Given the description of an element on the screen output the (x, y) to click on. 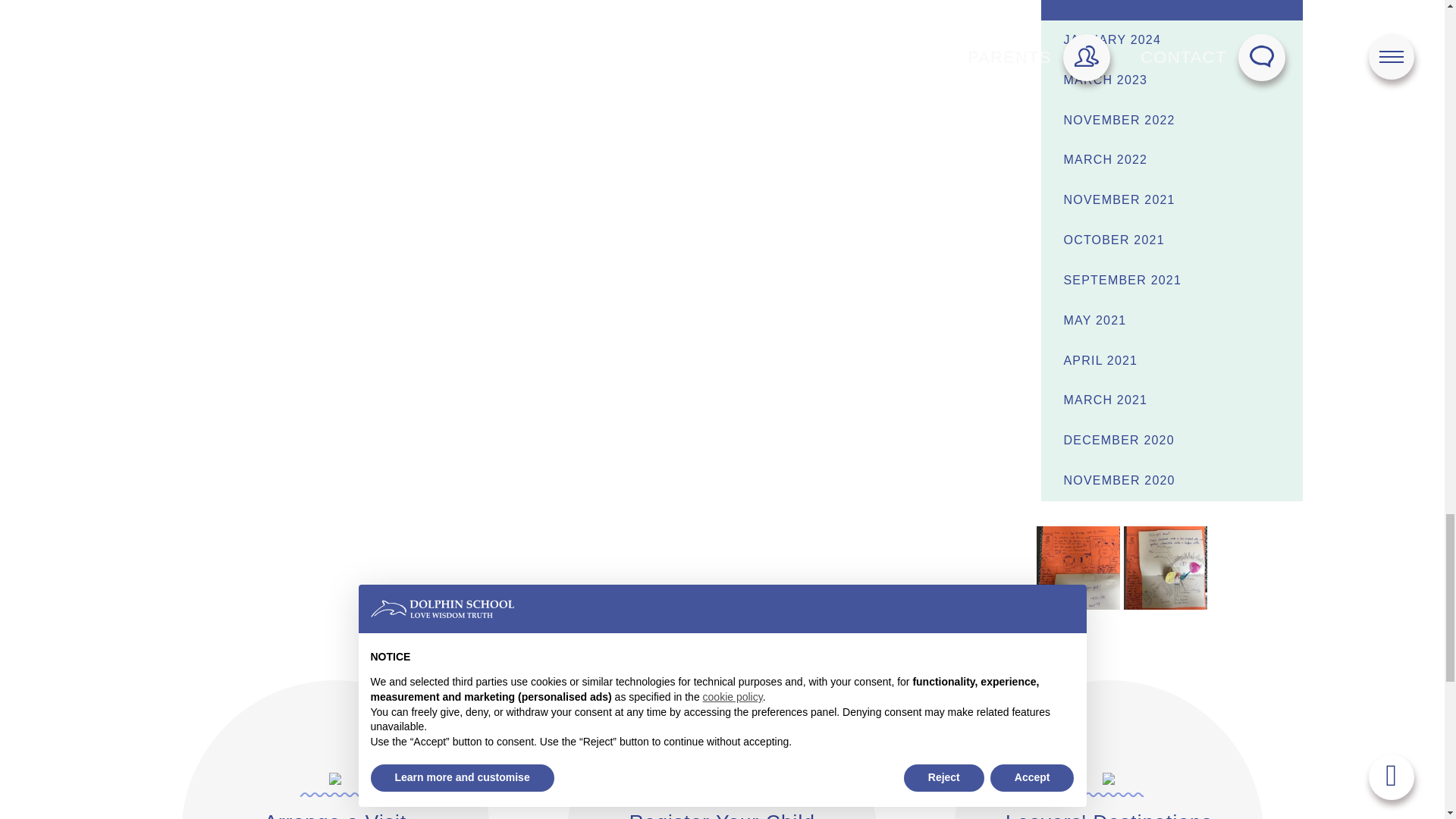
Noise2 (1165, 566)
Noise1 (1077, 566)
